Given the description of an element on the screen output the (x, y) to click on. 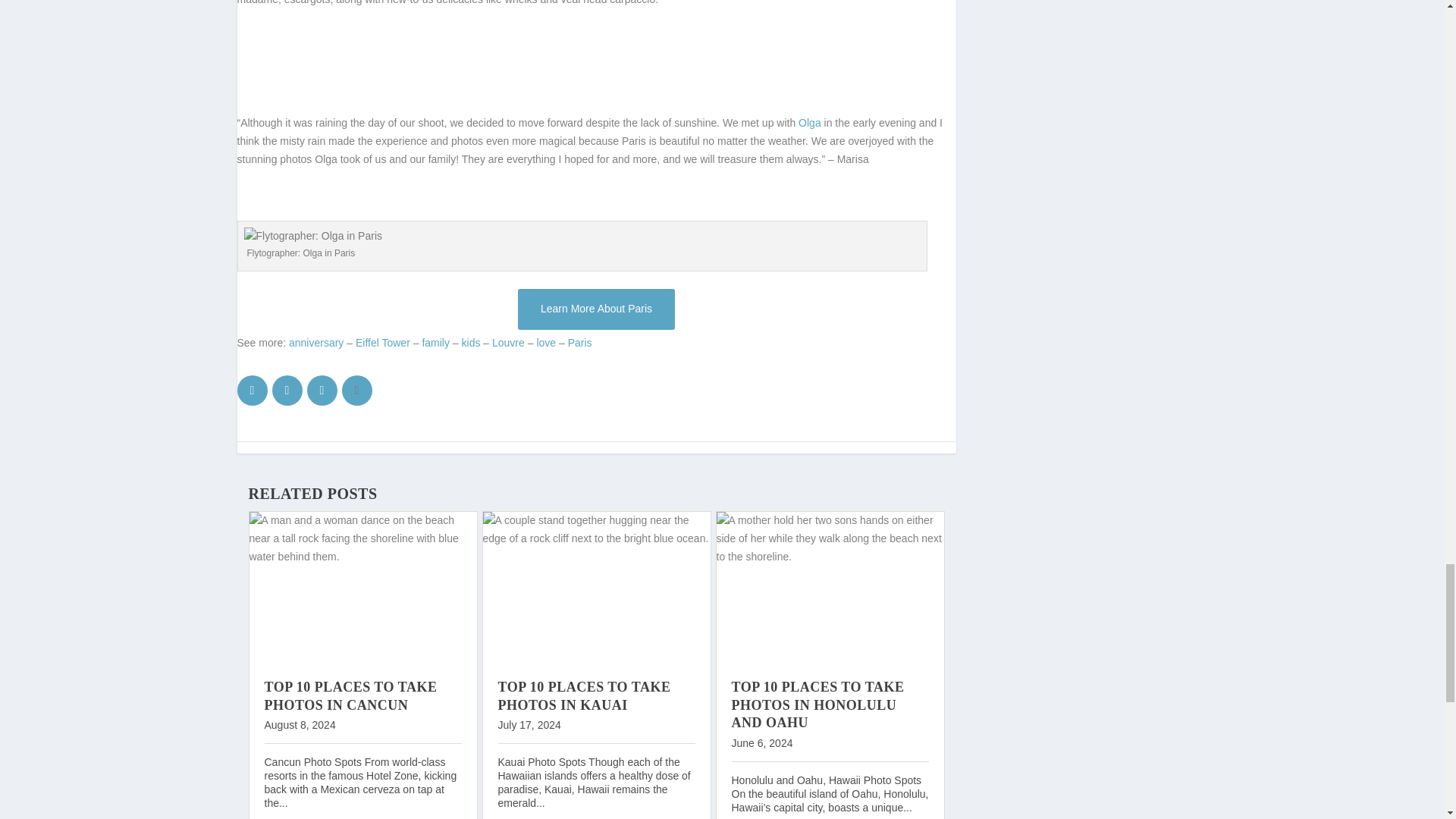
anniversary (315, 342)
Olga (809, 122)
Learn More About Paris (596, 309)
Eiffel Tower (382, 342)
